Given the description of an element on the screen output the (x, y) to click on. 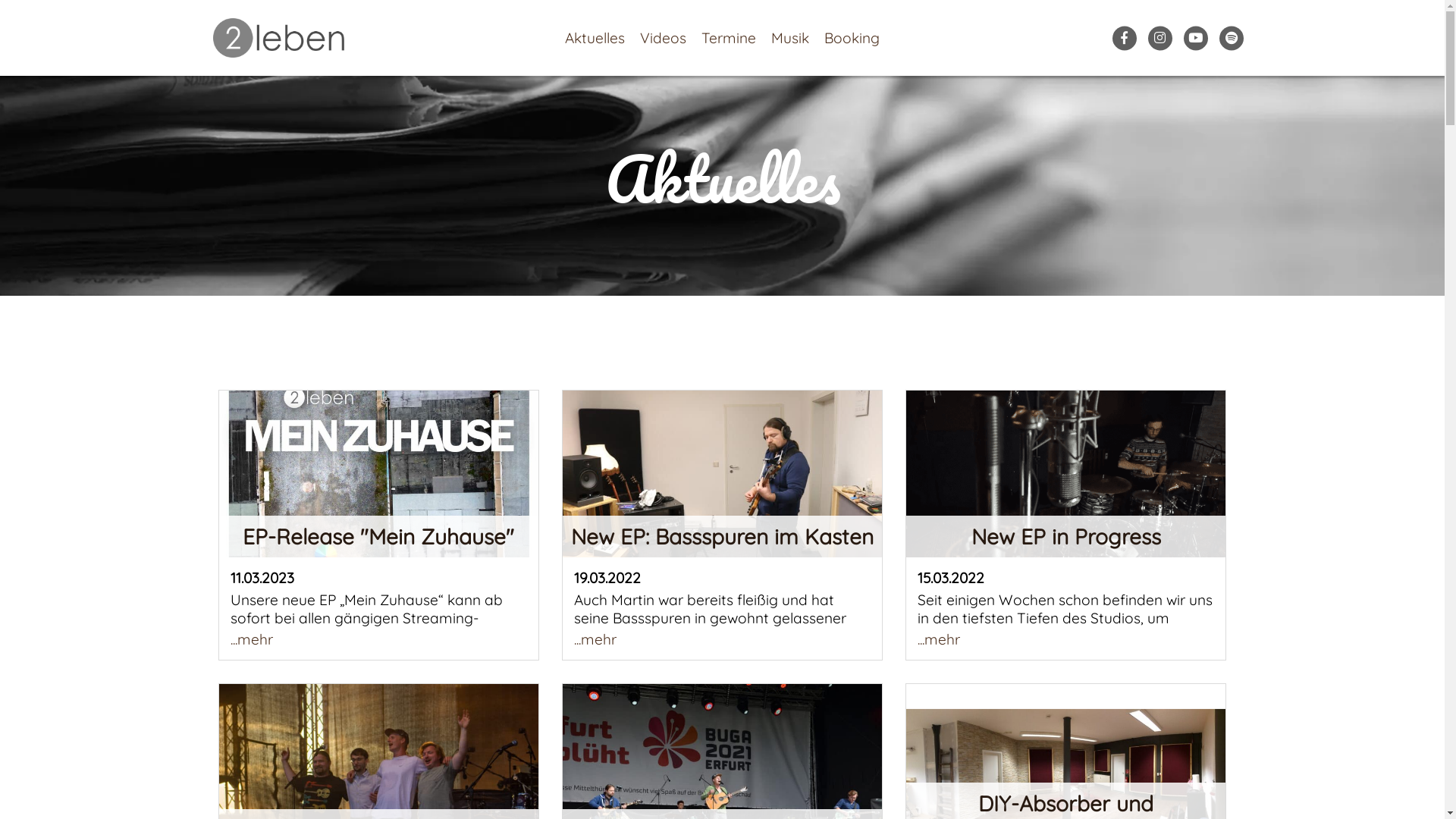
Musik Element type: text (789, 37)
...mehr Element type: text (1065, 639)
...mehr Element type: text (721, 639)
New EP: Bassspuren im Kasten Element type: text (721, 473)
Booking Element type: text (851, 37)
lexi-drums Element type: hover (1065, 474)
334302213_581316767388188_854477620007904286_n Element type: hover (377, 473)
EP-Release "Mein Zuhause" Element type: text (377, 473)
Zur Startseite von 2leben wechseln Element type: hover (278, 37)
IMG_8529 Element type: hover (721, 473)
Videos Element type: text (662, 37)
New EP in Progress Element type: text (1065, 473)
...mehr Element type: text (377, 639)
Termine Element type: text (728, 37)
Aktuelles Element type: text (594, 37)
